Given the description of an element on the screen output the (x, y) to click on. 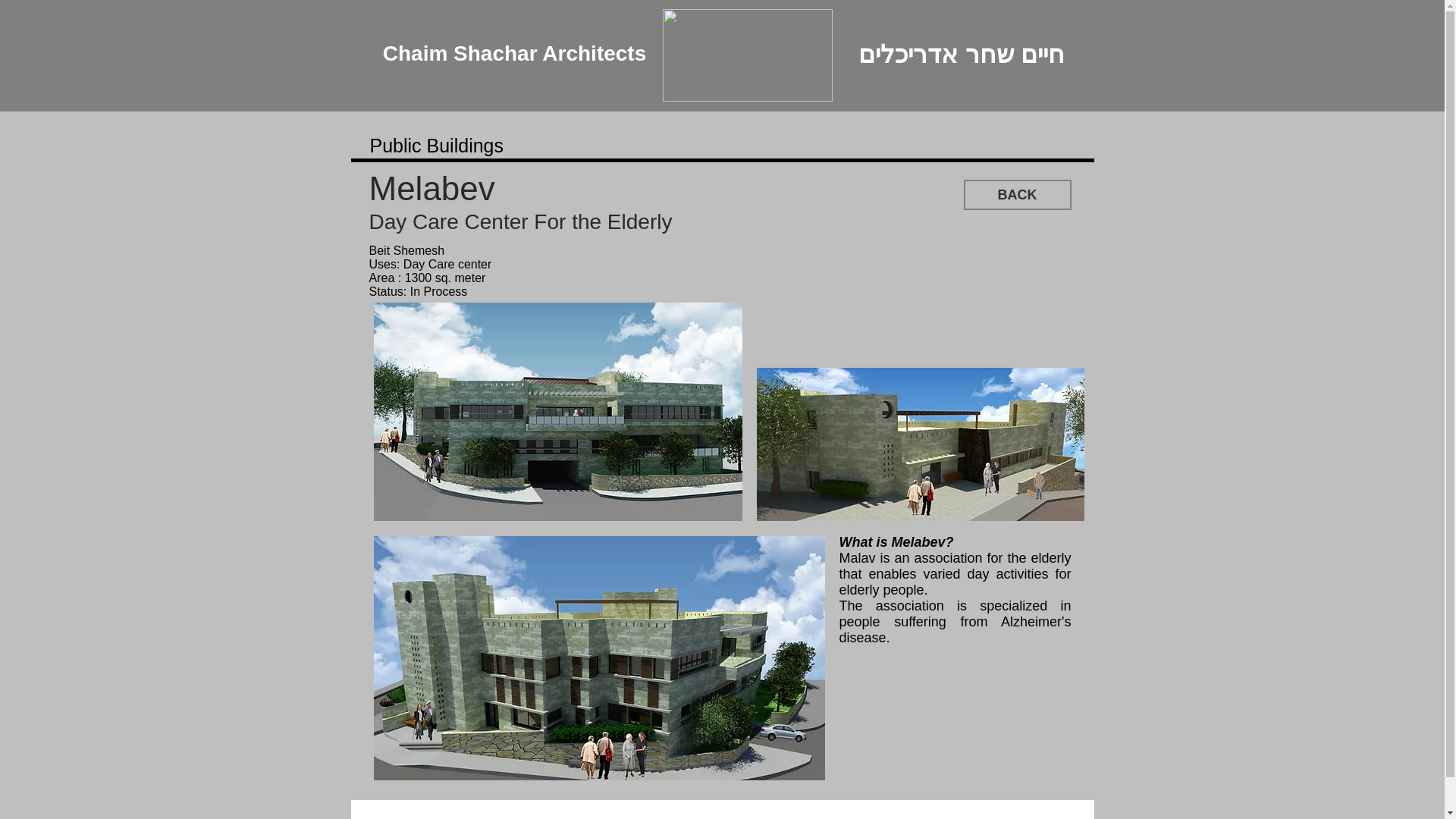
BACK (1016, 194)
Chaim Shachar Architects (514, 47)
Chaim Shachar Architects (514, 54)
